Given the description of an element on the screen output the (x, y) to click on. 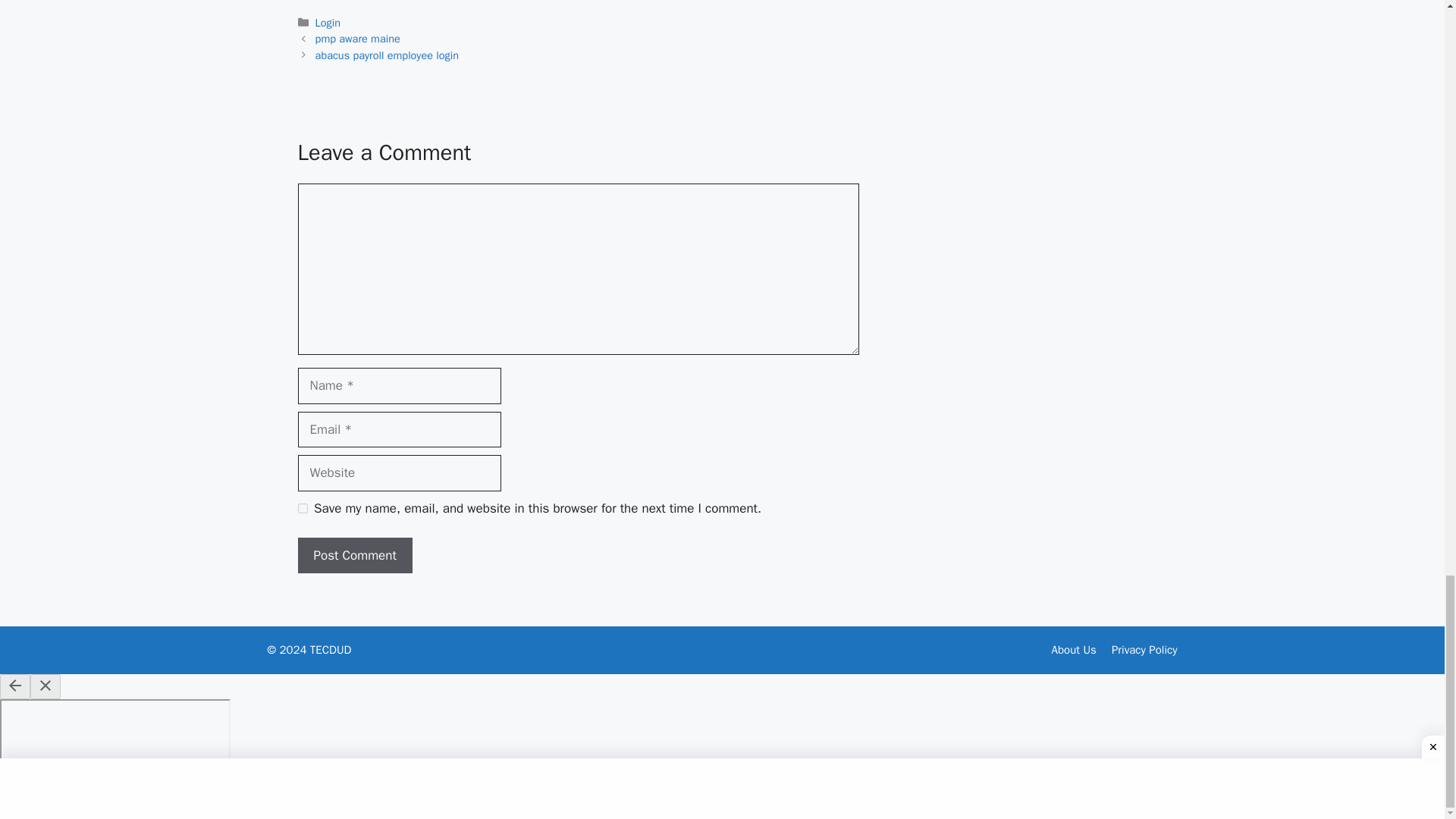
Post Comment (354, 555)
abacus payroll employee login (386, 55)
Login (327, 22)
yes (302, 508)
About Us (1073, 649)
Privacy Policy (1144, 649)
pmp aware maine (357, 38)
Post Comment (354, 555)
